Given the description of an element on the screen output the (x, y) to click on. 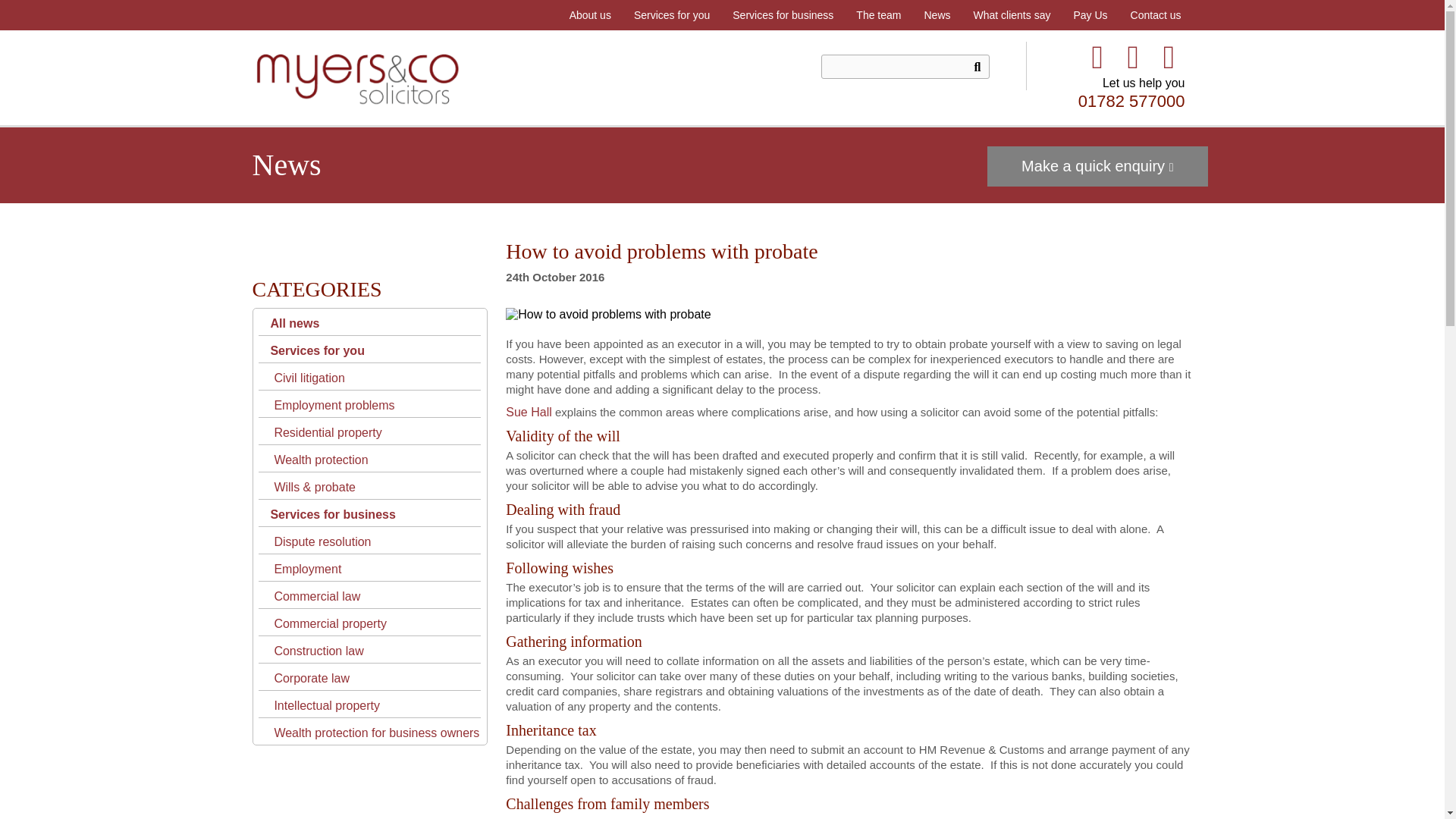
01782 577000 (1131, 100)
Contact us (1155, 15)
What clients say (1010, 15)
Services for you (671, 15)
About us (590, 15)
Services for business (782, 15)
The team (878, 15)
Pay Us (1089, 15)
News (936, 15)
